Given the description of an element on the screen output the (x, y) to click on. 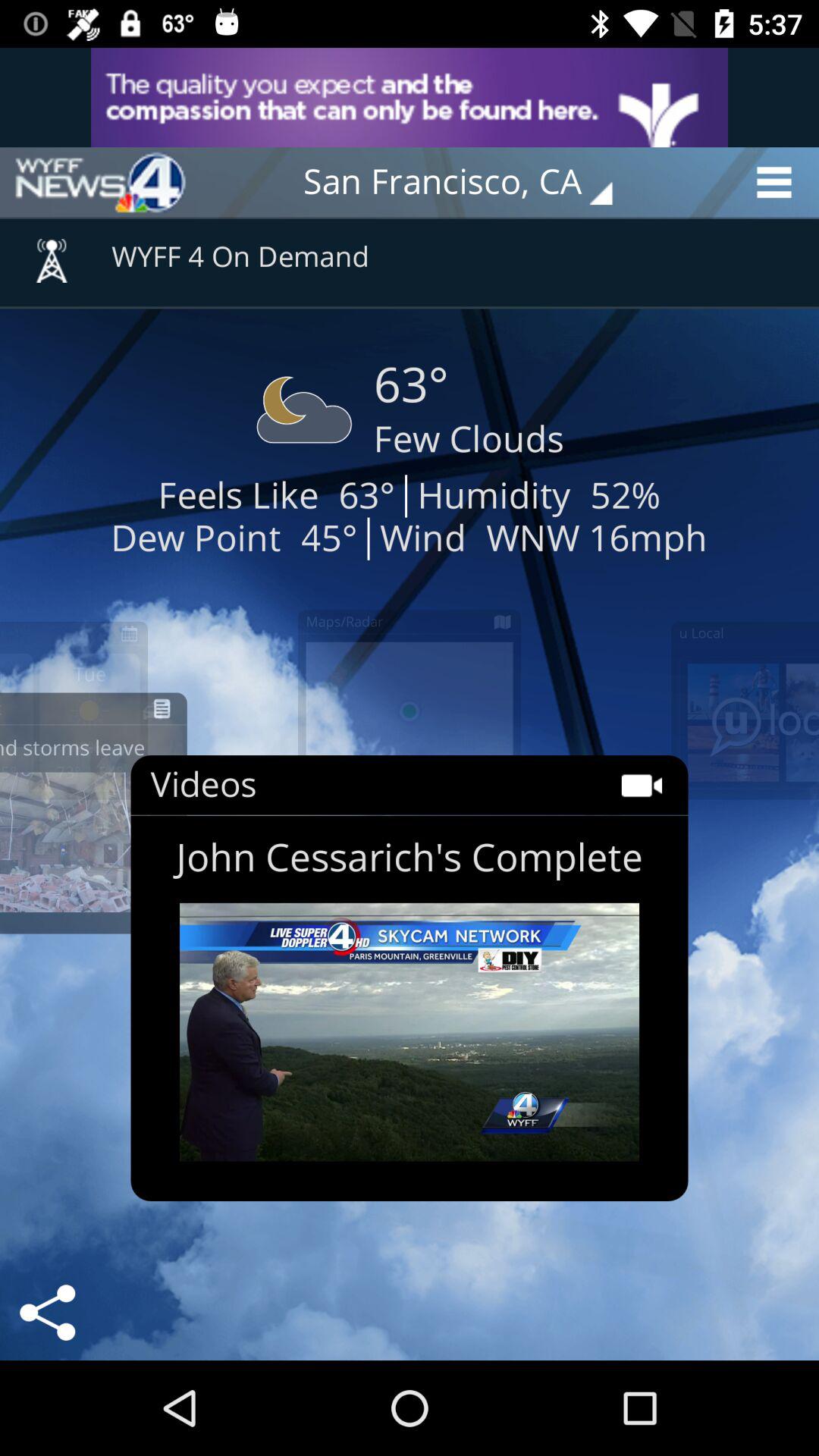
select the menu icon (778, 181)
click on the icon left of wyff 4 on demand (51, 250)
click on the text left to menu icon (468, 181)
